Given the description of an element on the screen output the (x, y) to click on. 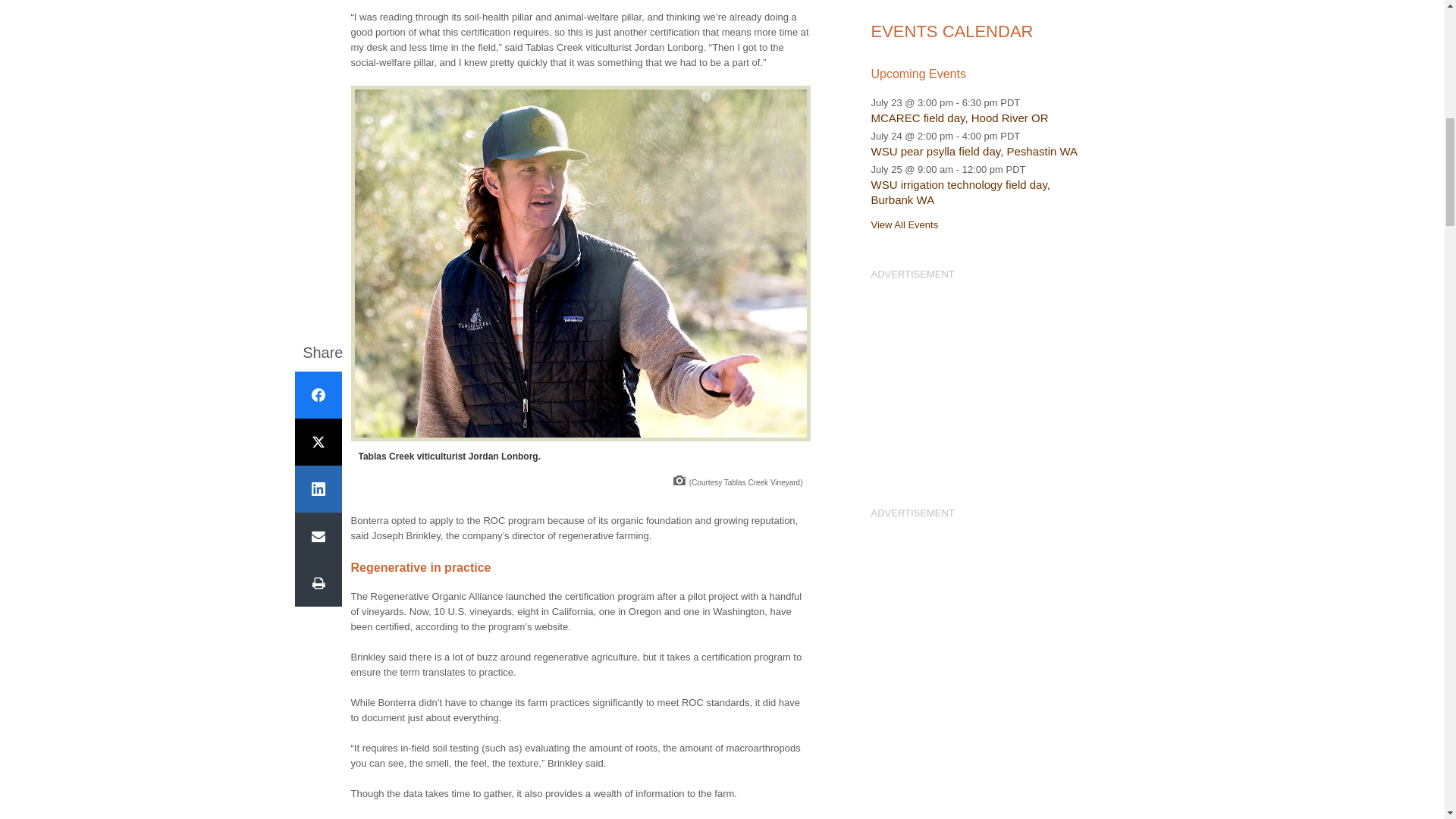
3rd party ad content (981, 375)
